Given the description of an element on the screen output the (x, y) to click on. 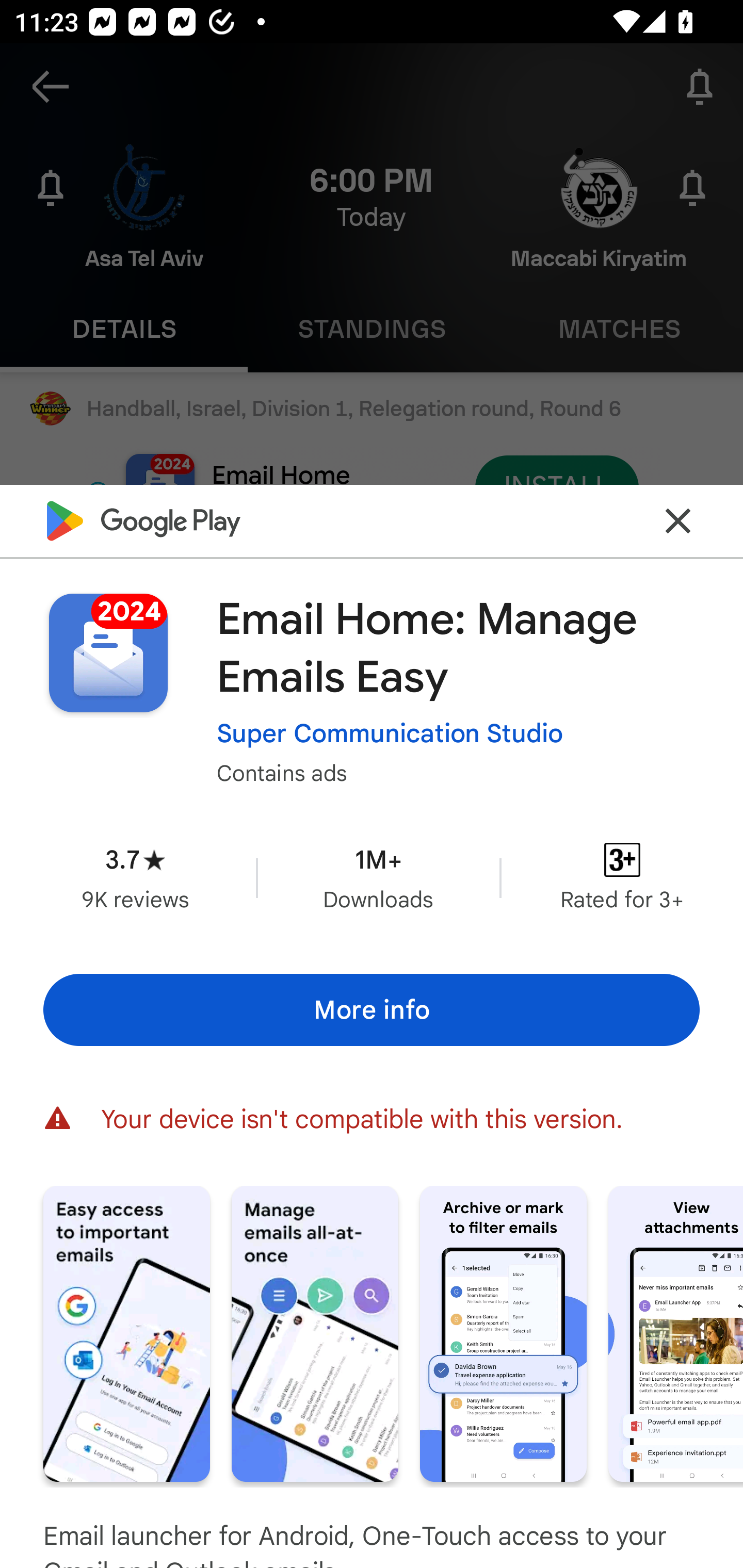
Close (677, 520)
Super Communication Studio (389, 732)
More info (371, 1009)
Screenshot "1" of "6" (126, 1333)
Screenshot "2" of "6" (314, 1333)
Screenshot "3" of "6" (502, 1333)
Screenshot "4" of "6" (675, 1333)
